Given the description of an element on the screen output the (x, y) to click on. 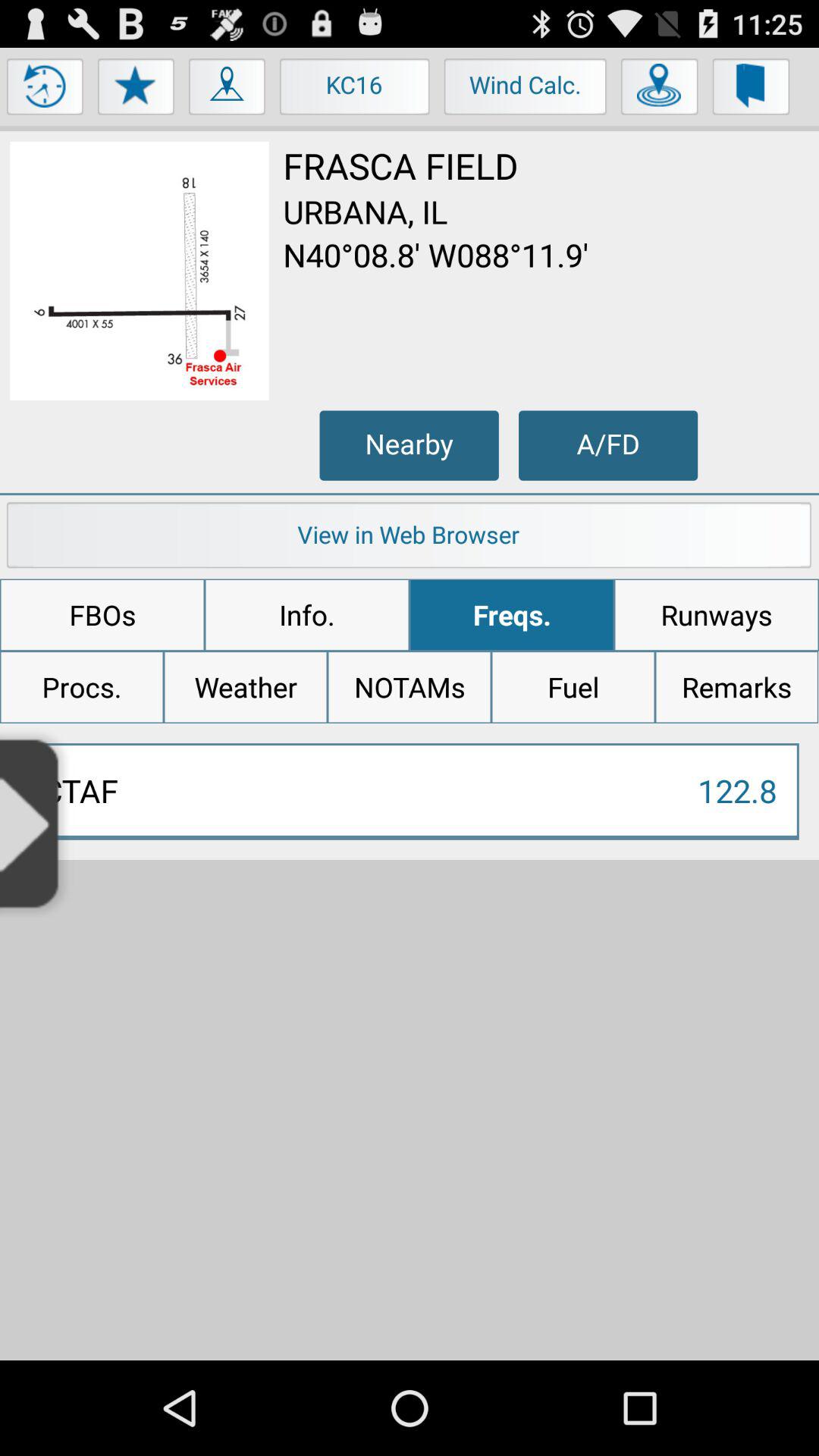
turn on button below view in web item (102, 615)
